Given the description of an element on the screen output the (x, y) to click on. 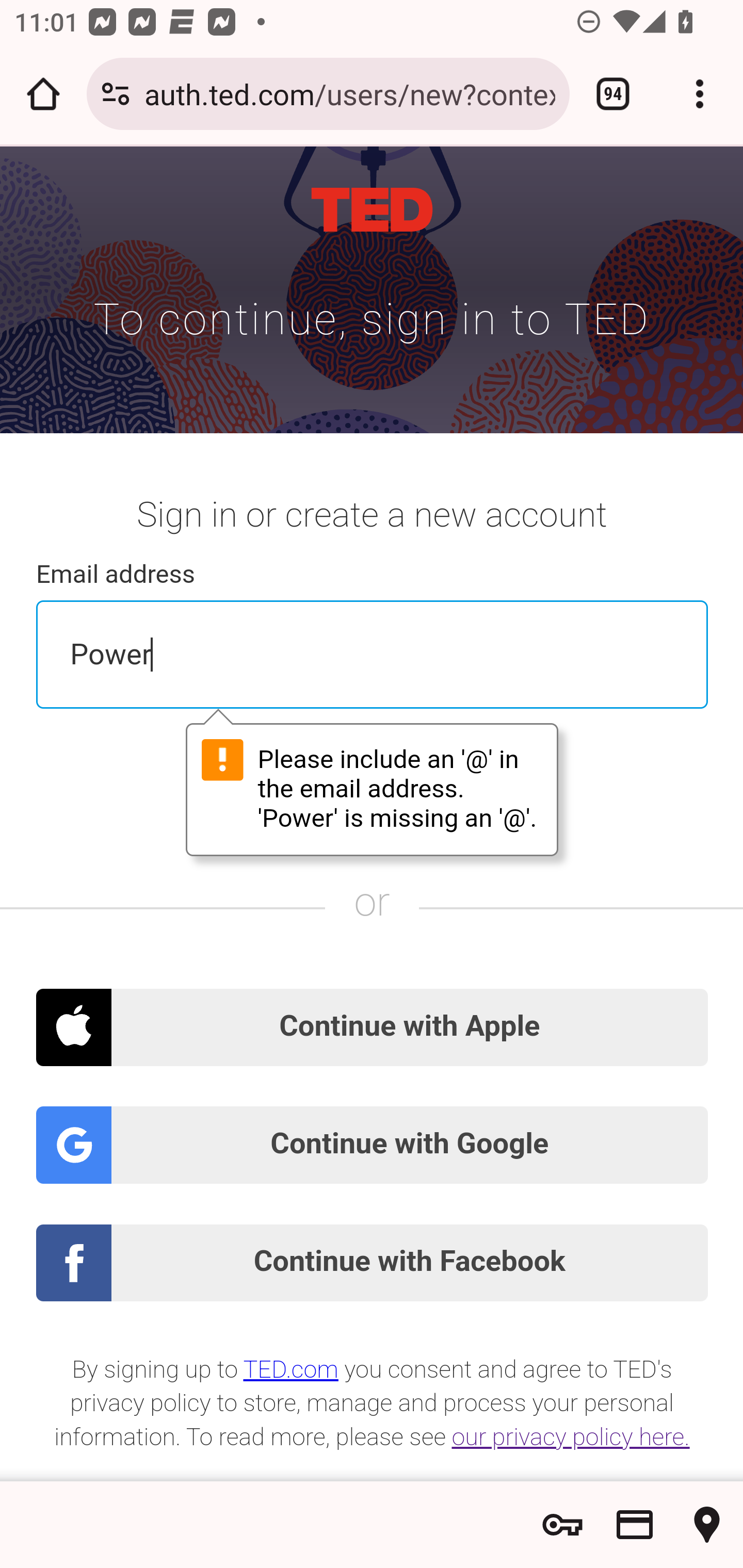
Open the home page (43, 93)
Connection is secure (115, 93)
Switch or close tabs (612, 93)
Customize and control Google Chrome (699, 93)
Power (372, 653)
Continue with Apple (372, 1026)
Continue with Google (372, 1144)
Continue with Facebook (372, 1263)
TED.com (290, 1369)
our privacy policy here. (571, 1437)
Show saved passwords and password options (562, 1524)
Show saved payment methods (634, 1524)
Show saved addresses (706, 1524)
